Given the description of an element on the screen output the (x, y) to click on. 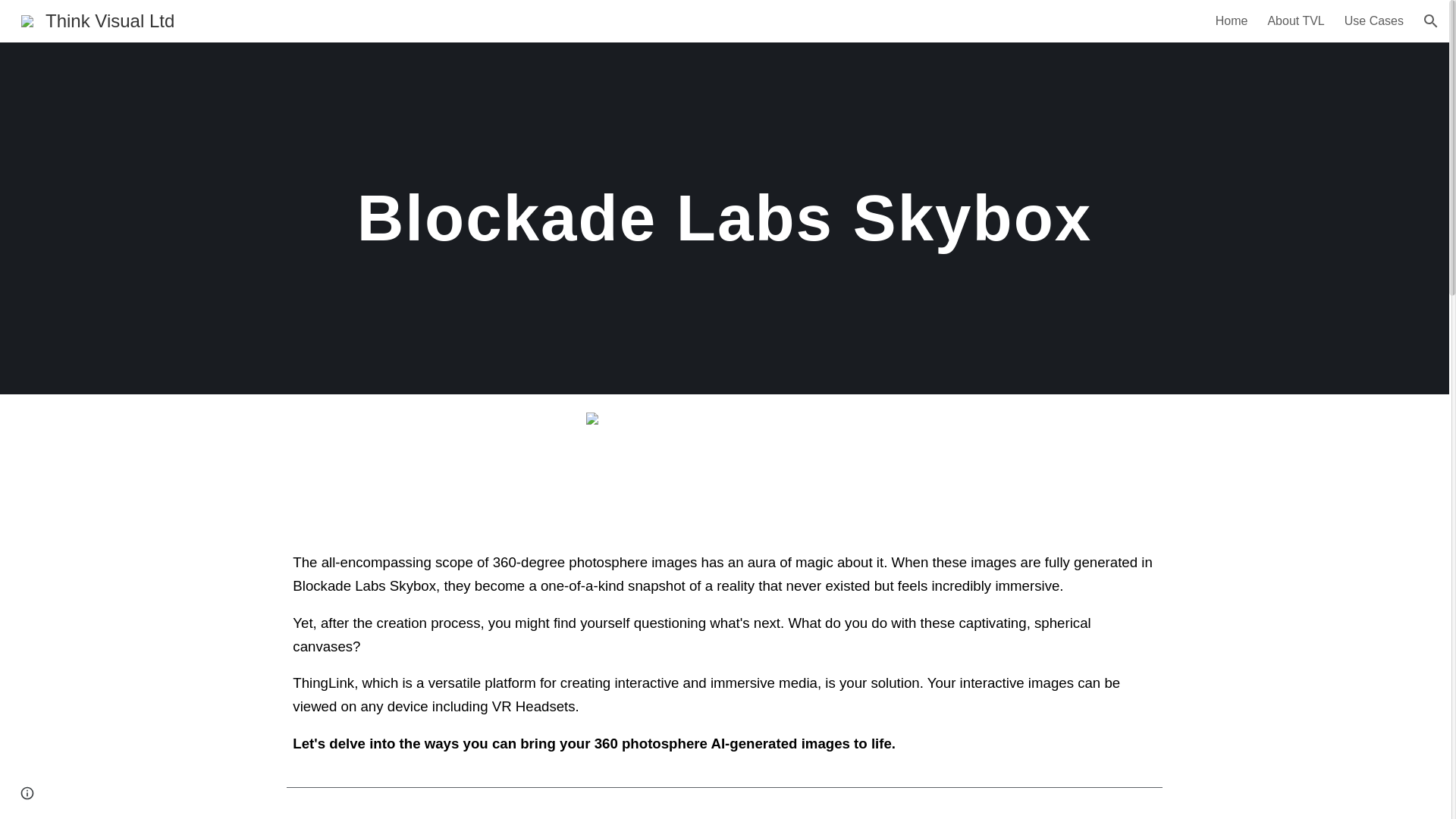
Think Visual Ltd (97, 19)
Home (1231, 20)
Use Cases (1373, 20)
About TVL (1294, 20)
